Given the description of an element on the screen output the (x, y) to click on. 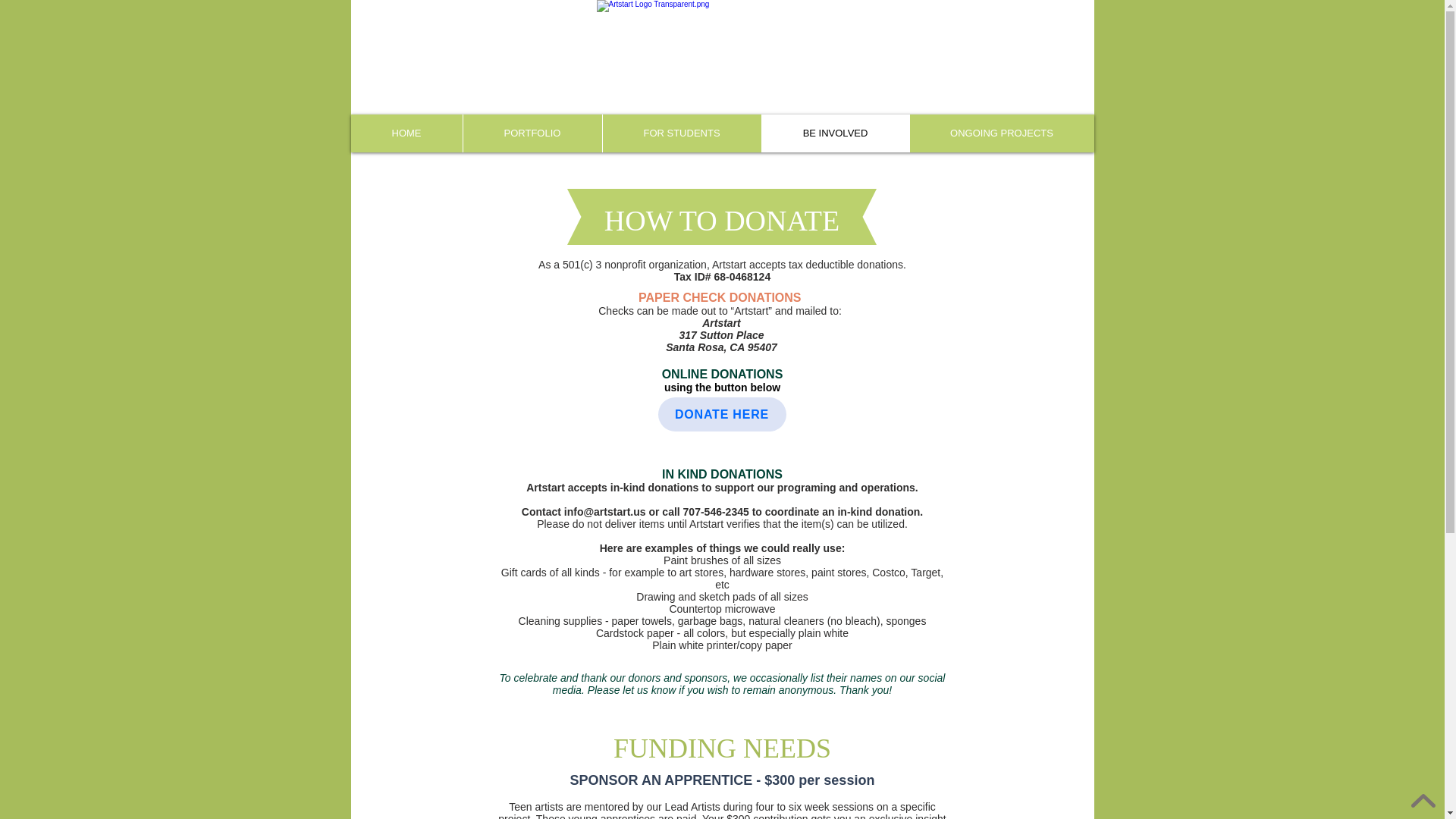
HOME (405, 133)
ONGOING PROJECTS (1000, 133)
PORTFOLIO (532, 133)
BE INVOLVED (834, 133)
FOR STUDENTS (681, 133)
